Given the description of an element on the screen output the (x, y) to click on. 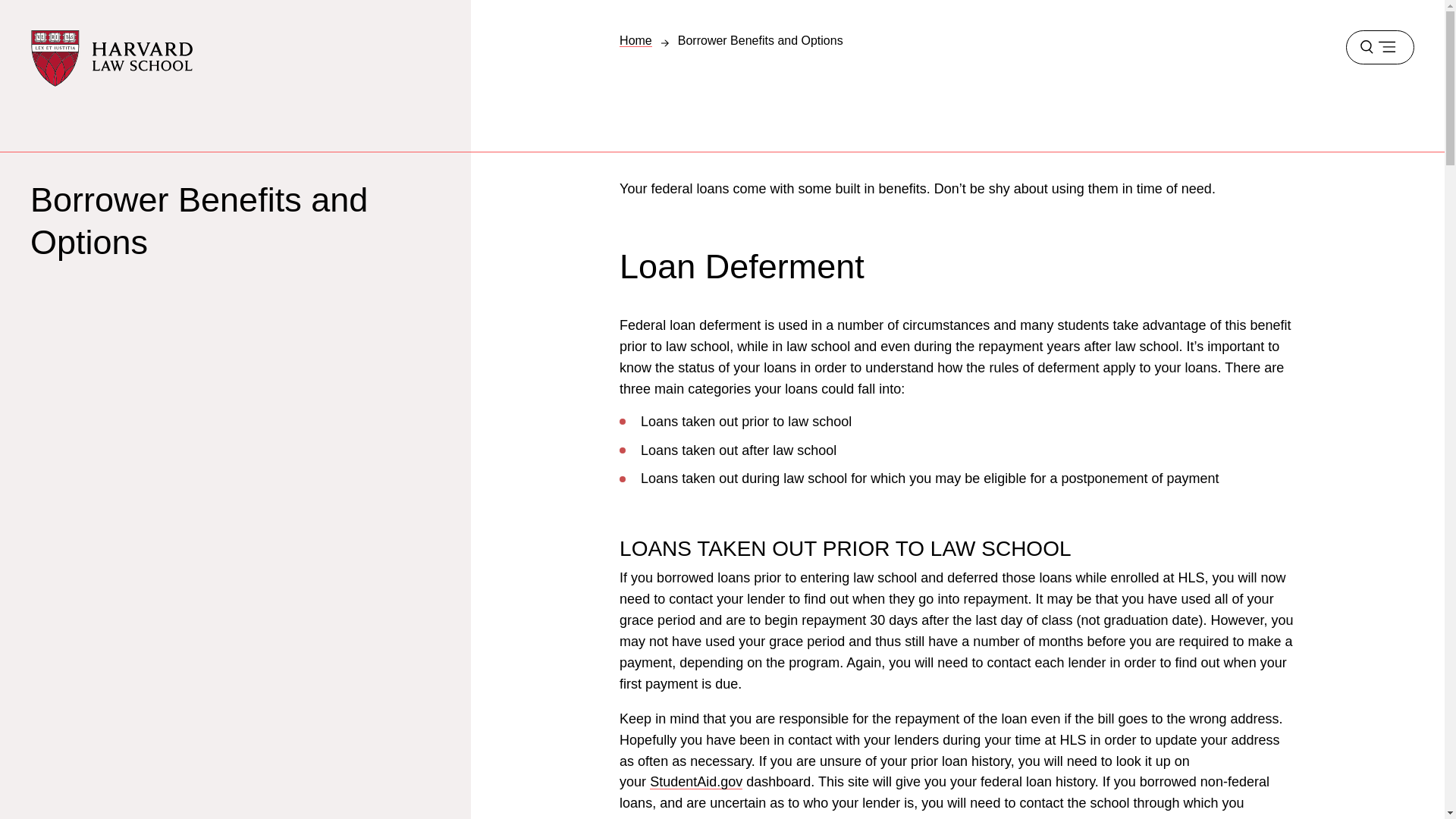
Open menu (1379, 47)
Home (636, 39)
Harvard Law School (111, 58)
